Given the description of an element on the screen output the (x, y) to click on. 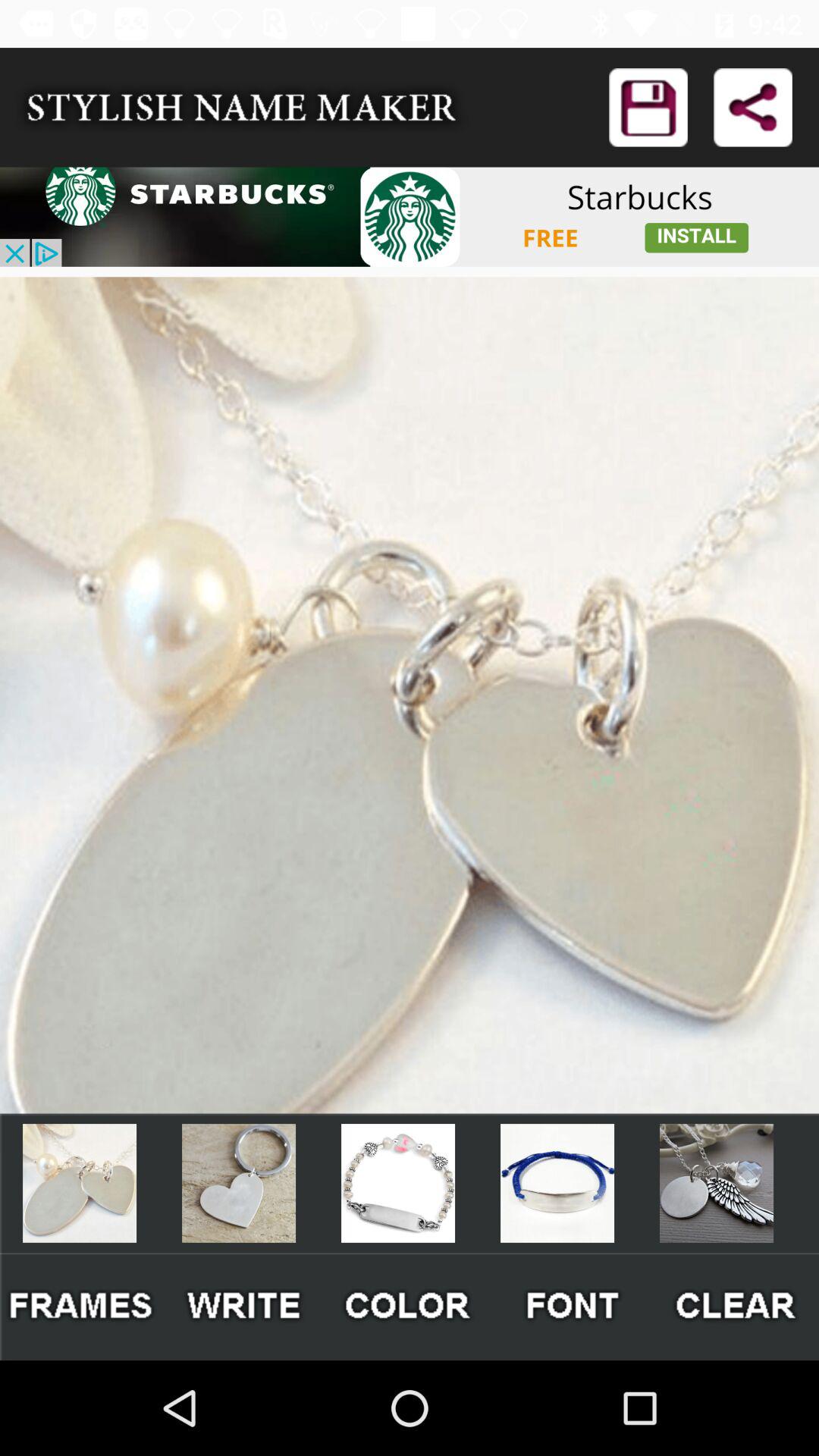
share the article (648, 107)
